Given the description of an element on the screen output the (x, y) to click on. 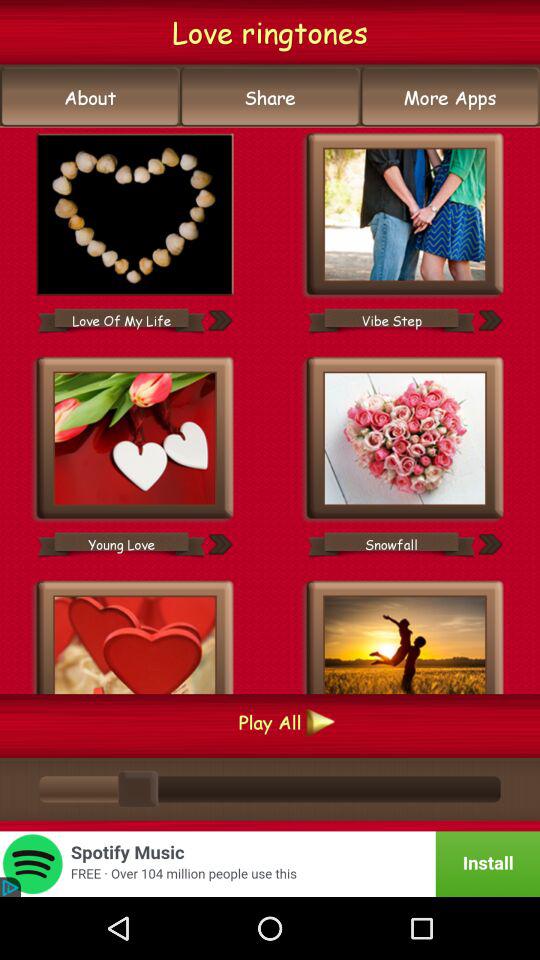
tap the vibe step (391, 320)
